Given the description of an element on the screen output the (x, y) to click on. 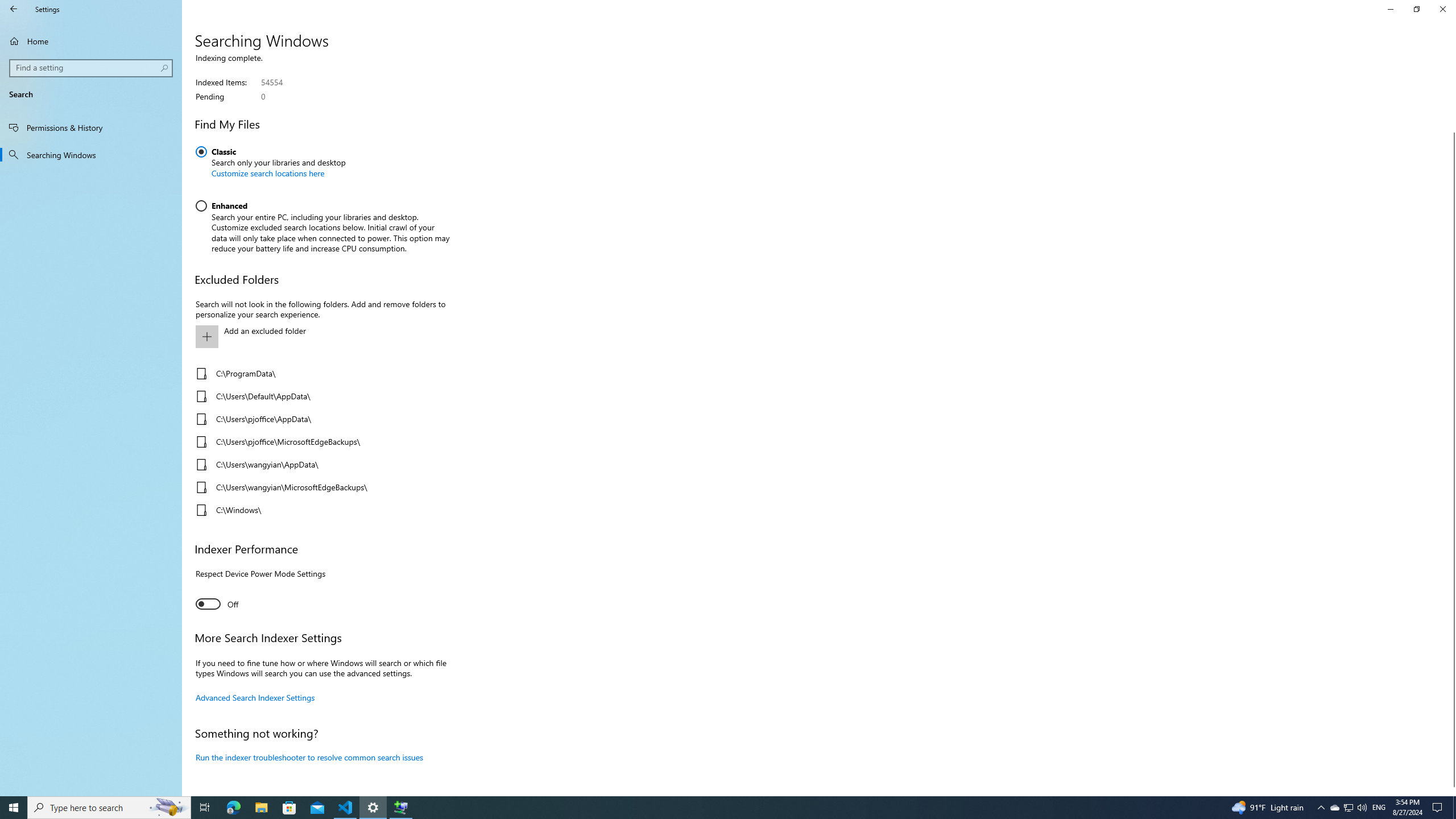
Advanced Search Indexer Settings (254, 697)
C:\Users\Default\AppData\ (319, 395)
